Given the description of an element on the screen output the (x, y) to click on. 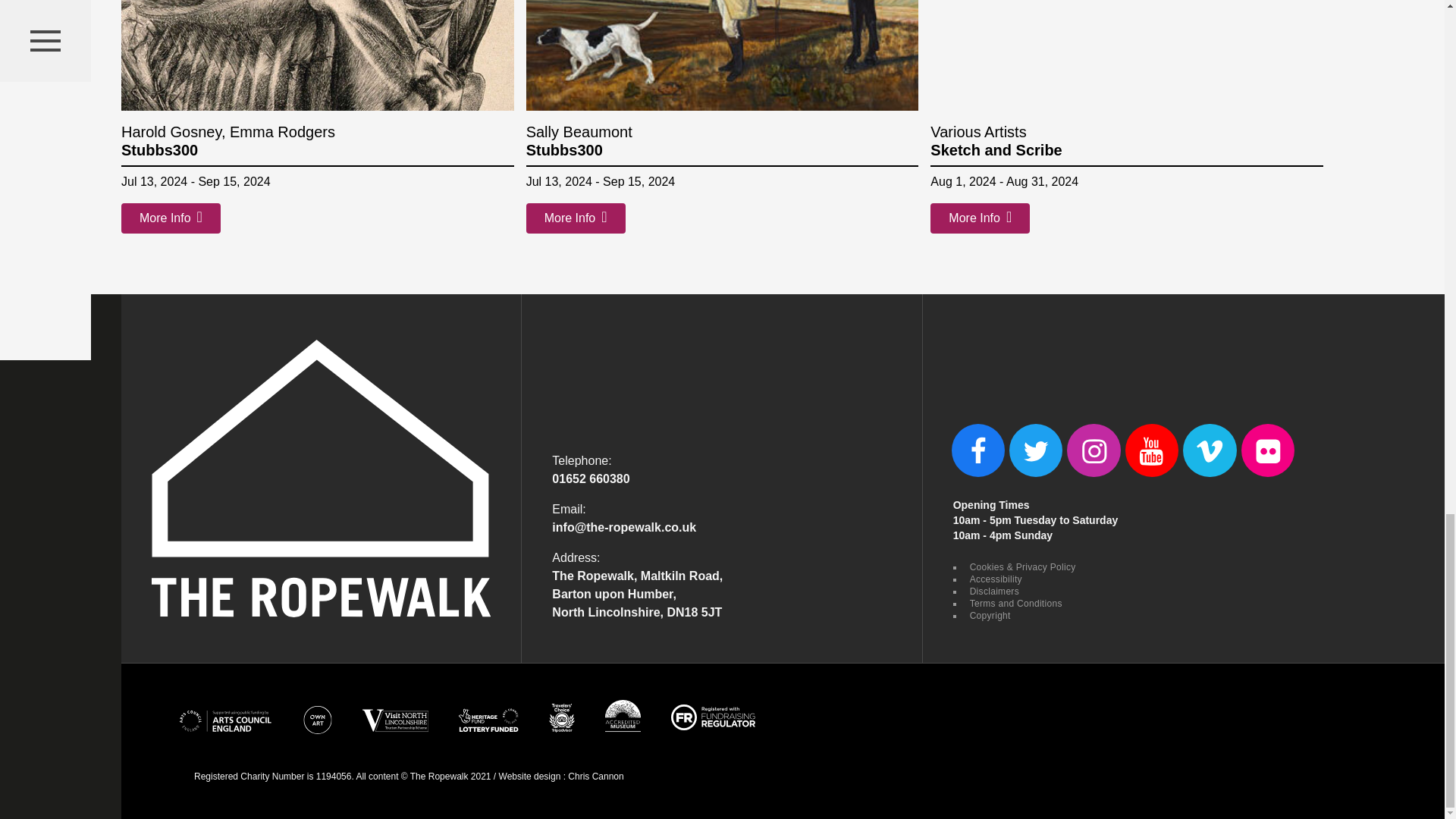
Copyright (988, 615)
More Info (170, 218)
More Info (979, 218)
More Info (575, 218)
Accessibility (994, 579)
Terms and Conditions (1014, 603)
Website design : Chris Cannon (561, 776)
Disclaimers (992, 591)
